Given the description of an element on the screen output the (x, y) to click on. 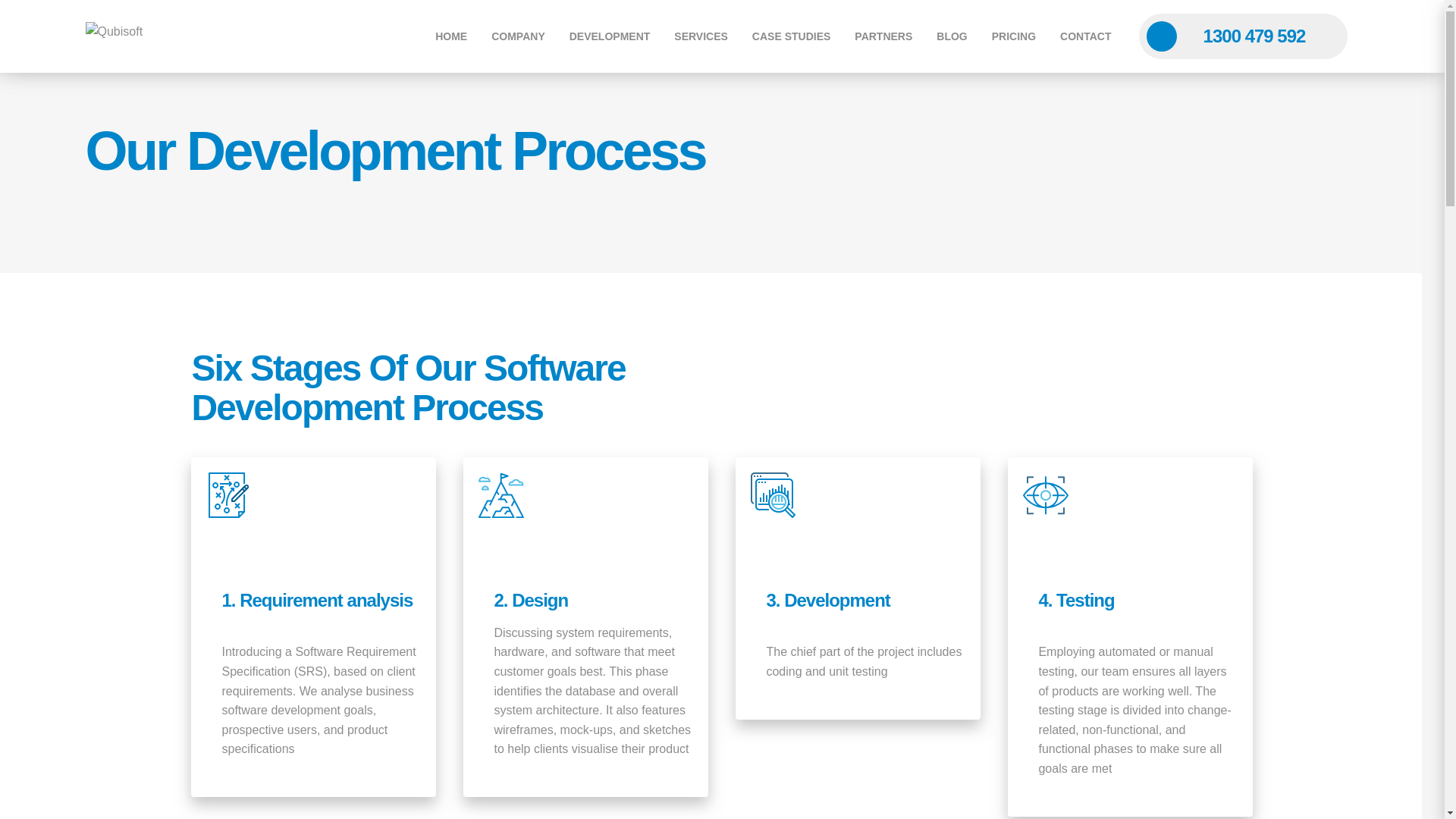
DEVELOPMENT (609, 36)
CONTACT (1085, 36)
COMPANY (518, 36)
BLOG (951, 36)
PARTNERS (883, 36)
HOME (451, 36)
Qubisoft (152, 36)
1300 479 592 (1243, 35)
CASE STUDIES (791, 36)
SERVICES (700, 36)
